Given the description of an element on the screen output the (x, y) to click on. 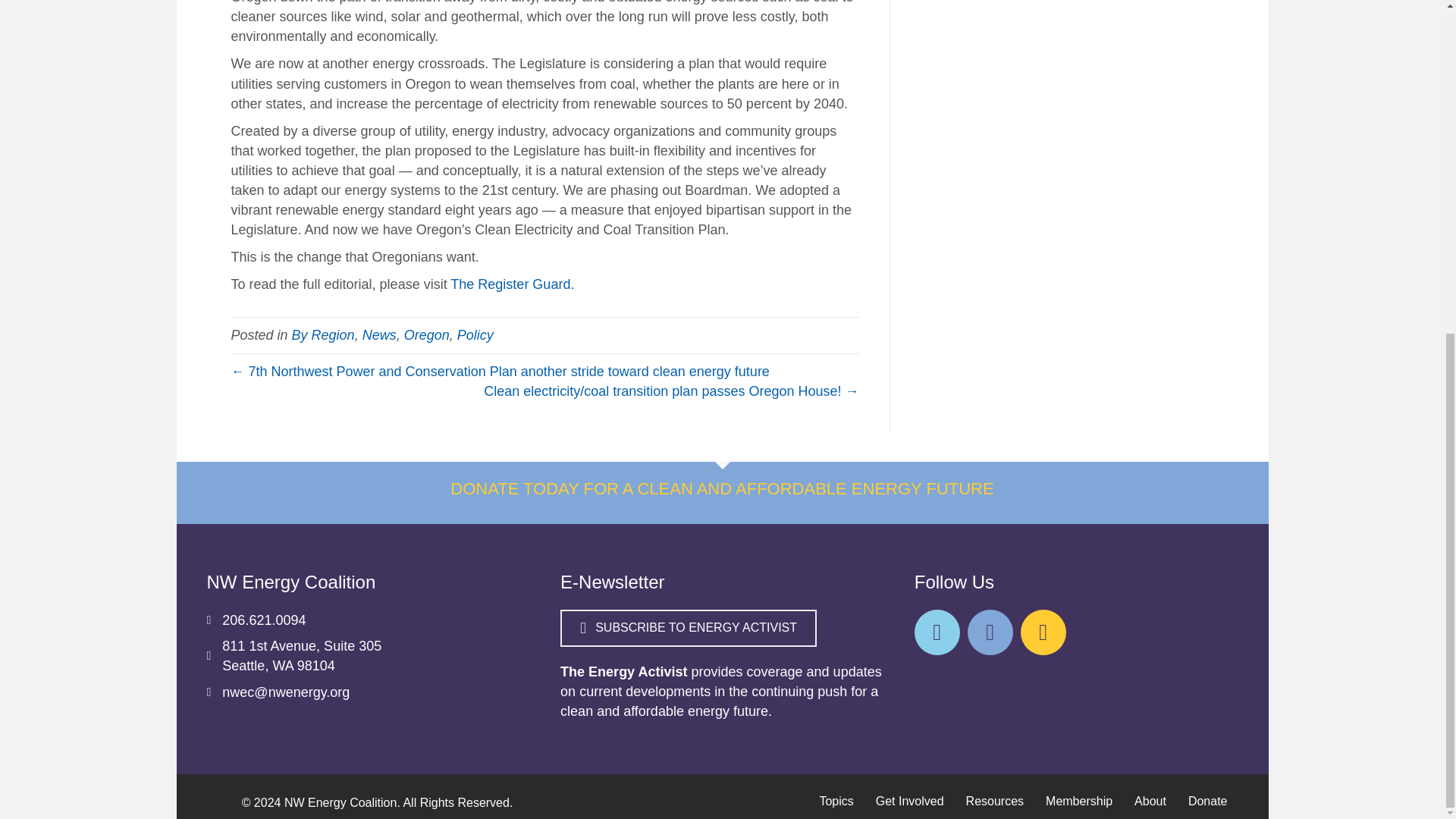
Twitter (990, 632)
Twitter (936, 632)
Twitter (1042, 632)
